Given the description of an element on the screen output the (x, y) to click on. 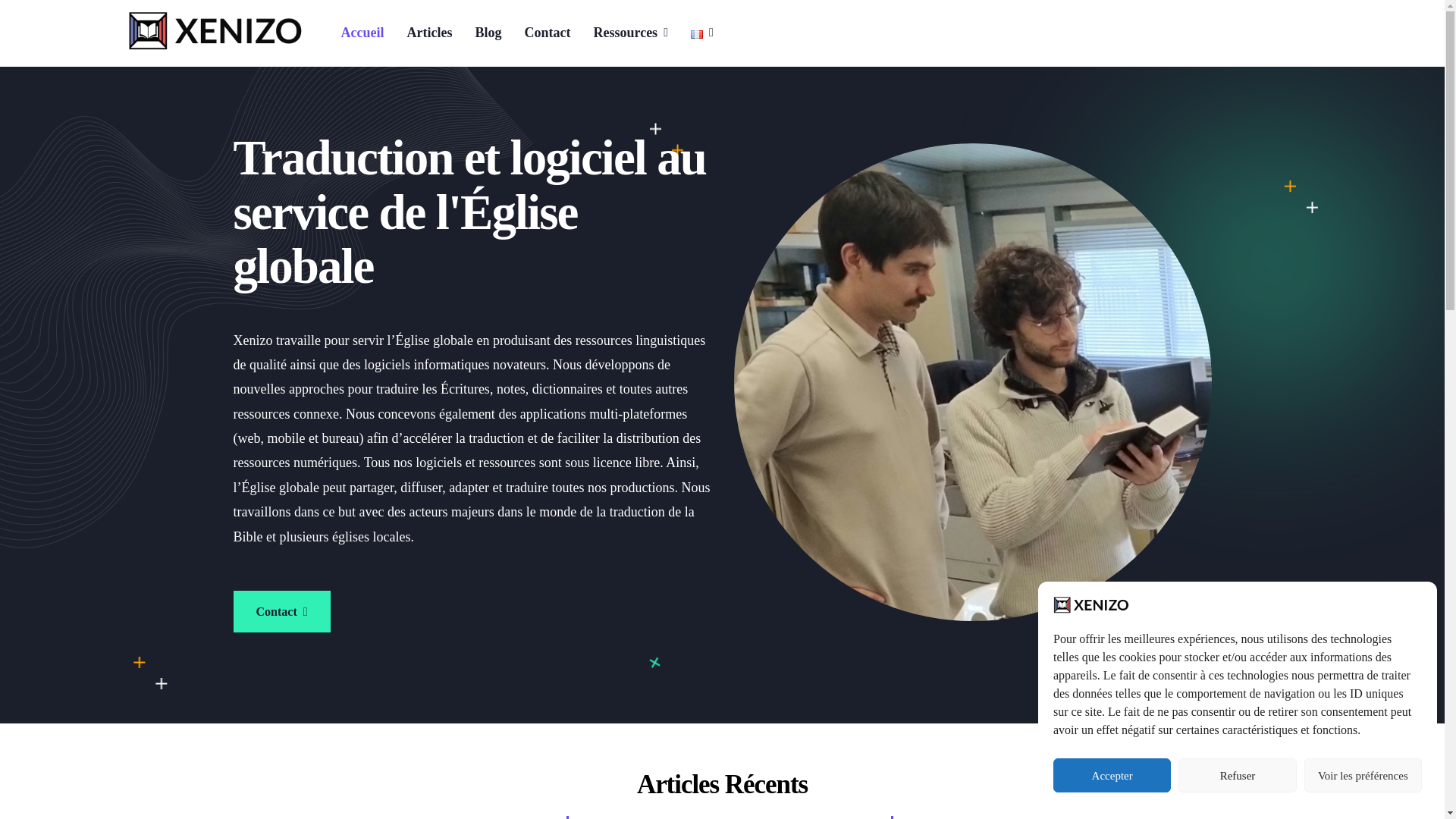
Contact (546, 33)
Ressources (630, 33)
Accueil (364, 33)
Refuser (1236, 775)
Articles (429, 33)
Accepter (1111, 775)
Blog (487, 33)
